Given the description of an element on the screen output the (x, y) to click on. 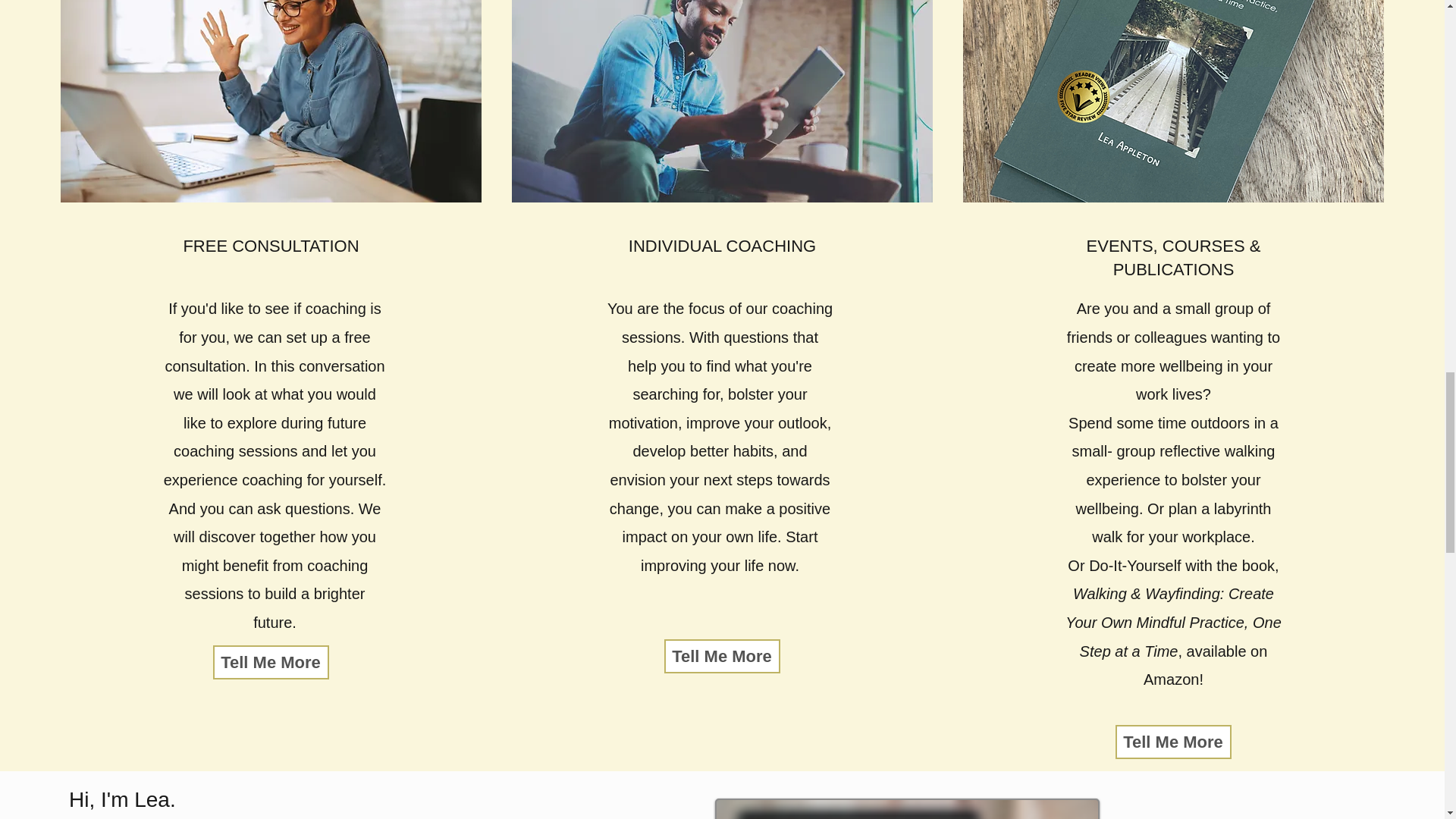
Tell Me More (1172, 741)
Tell Me More (270, 662)
Tell Me More (721, 656)
